Given the description of an element on the screen output the (x, y) to click on. 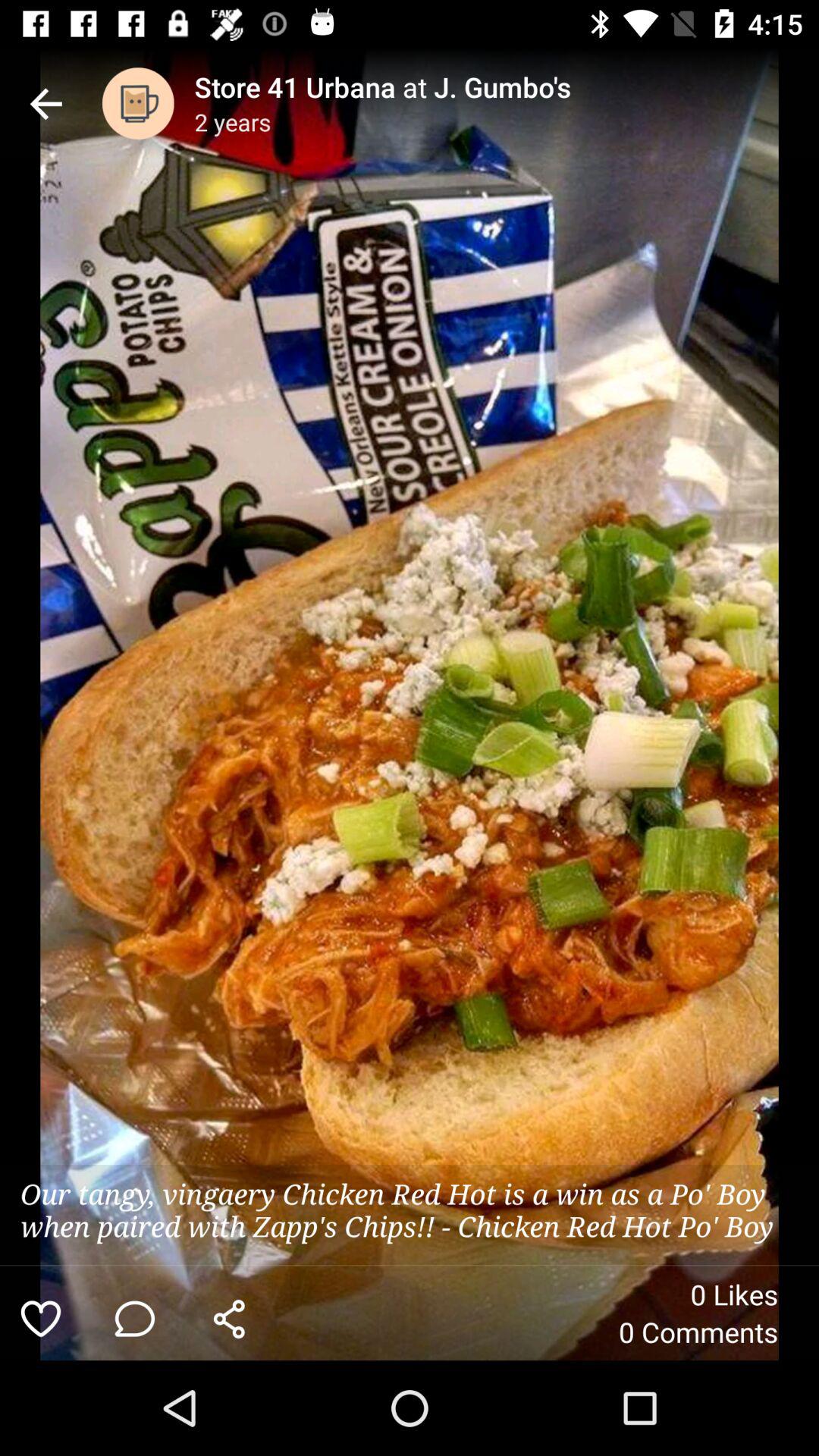
turn on the item above our tangy vingaery app (45, 103)
